Given the description of an element on the screen output the (x, y) to click on. 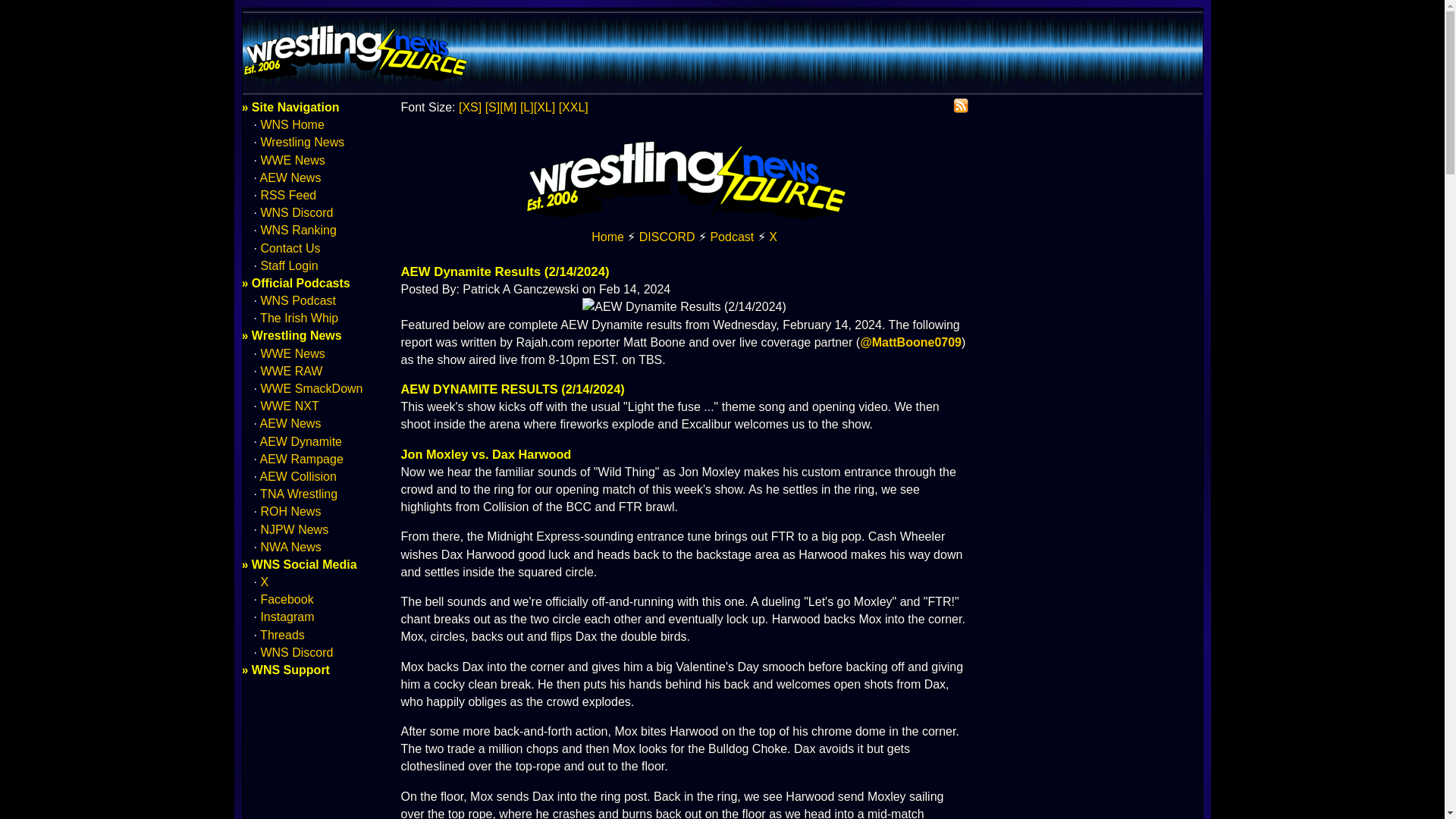
WWE SmackDown (311, 388)
Keep up with the RSS feed! (960, 105)
WNS Podcast (732, 236)
AEW News (290, 422)
Instagram (287, 616)
WNS Ranking (298, 229)
RSS Feed (287, 195)
Staff Login (288, 265)
WWE News (292, 160)
WNS Home (291, 124)
